Given the description of an element on the screen output the (x, y) to click on. 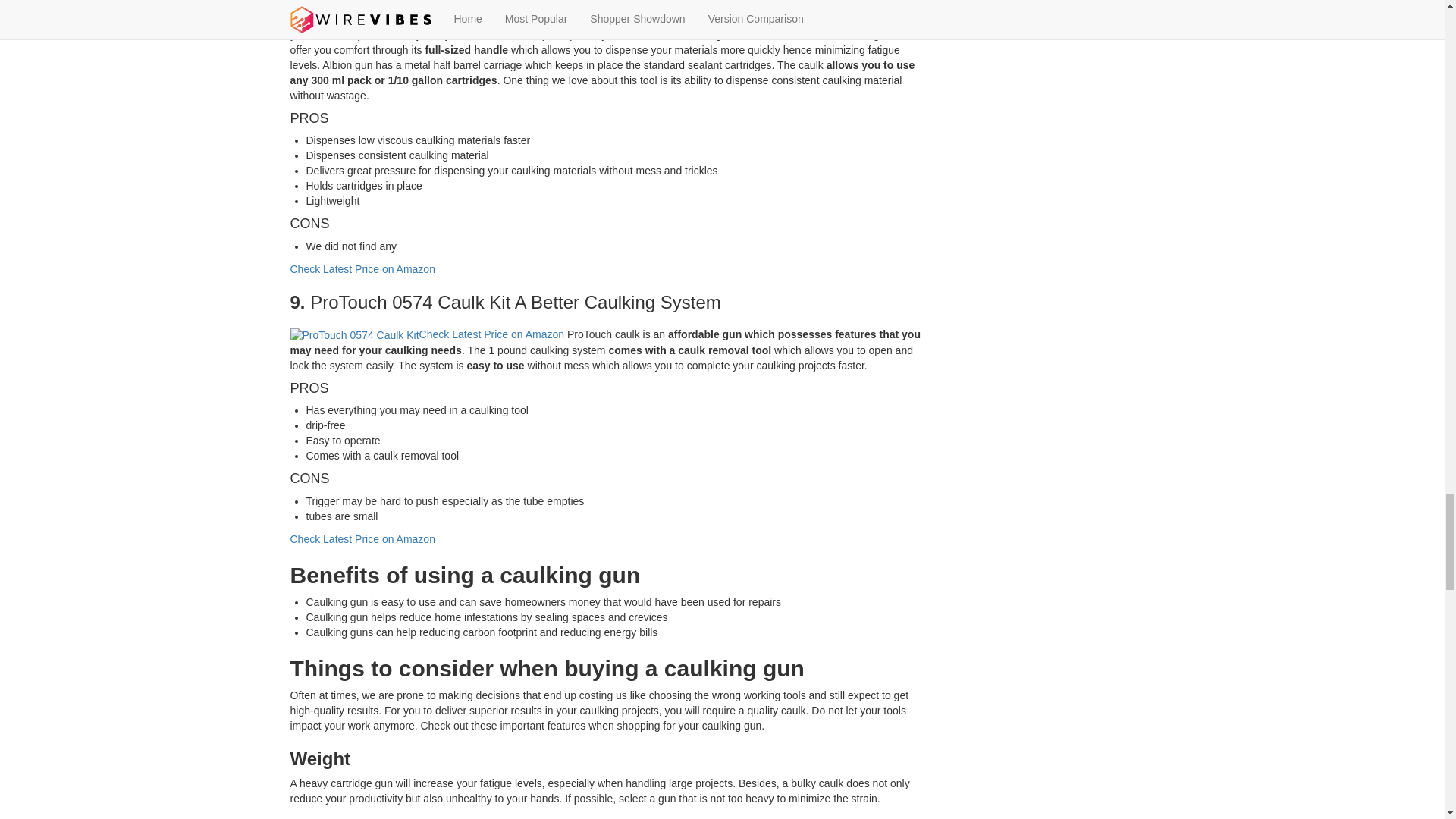
Albion Engineering B12 Manual Cartridge Caulking Gun (426, 20)
Check Latest Price on Amazon (491, 334)
Check Latest Price on Amazon (637, 19)
Check Latest Price on Amazon (361, 268)
ProTouch 0574 Caulk Kit (354, 335)
